Given the description of an element on the screen output the (x, y) to click on. 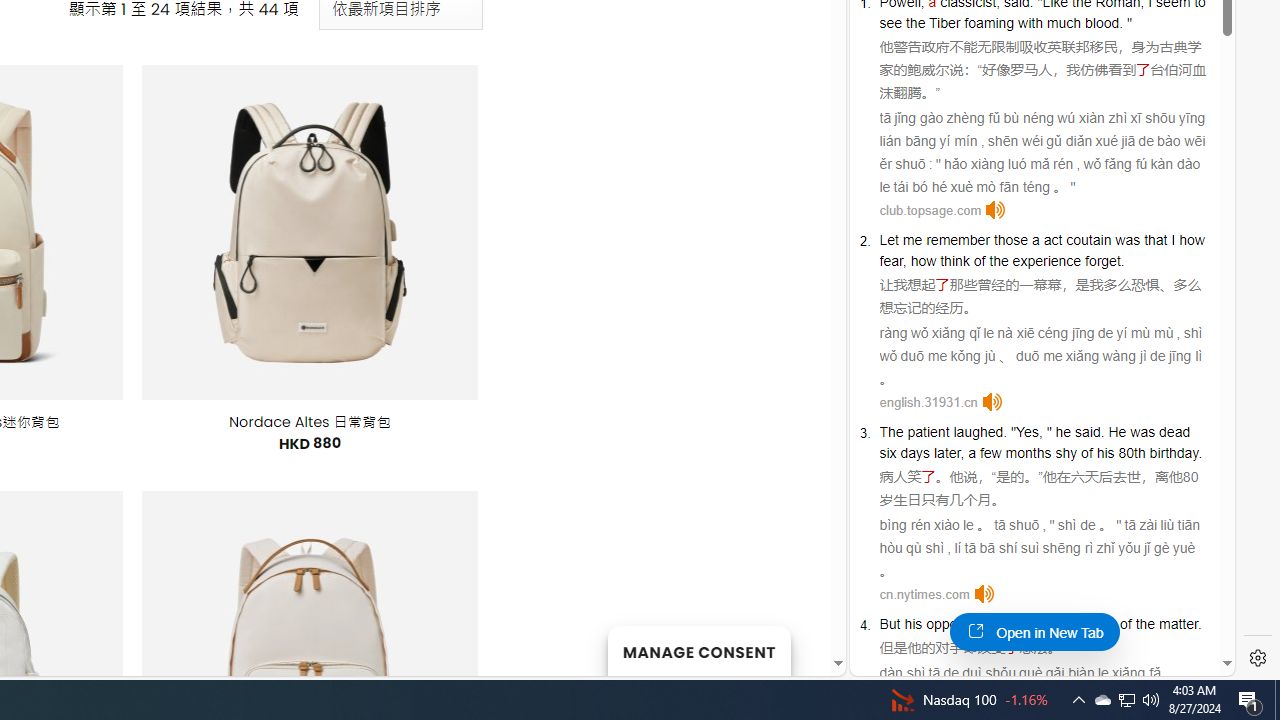
days (914, 452)
forget (1103, 260)
dead (1174, 431)
said (1087, 431)
think (1060, 624)
, (962, 452)
later (947, 452)
